Given the description of an element on the screen output the (x, y) to click on. 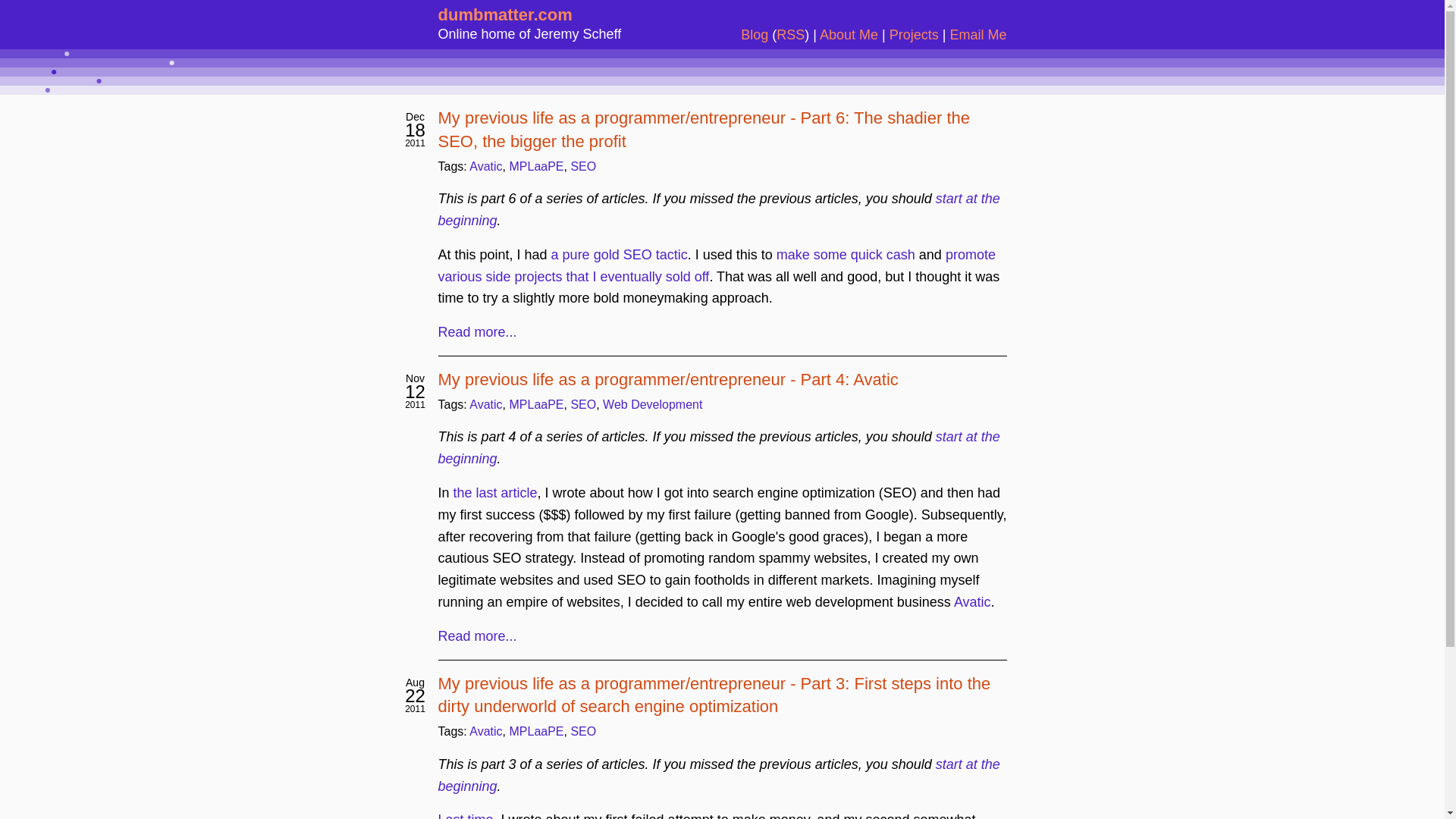
MPLaaPE (535, 404)
SEO (582, 730)
Blog (754, 34)
start at the beginning (719, 209)
RSS (790, 34)
Avatic (485, 730)
SEO (582, 165)
Last time (465, 815)
dumbmatter.com (505, 14)
MPLaaPE (535, 165)
